Given the description of an element on the screen output the (x, y) to click on. 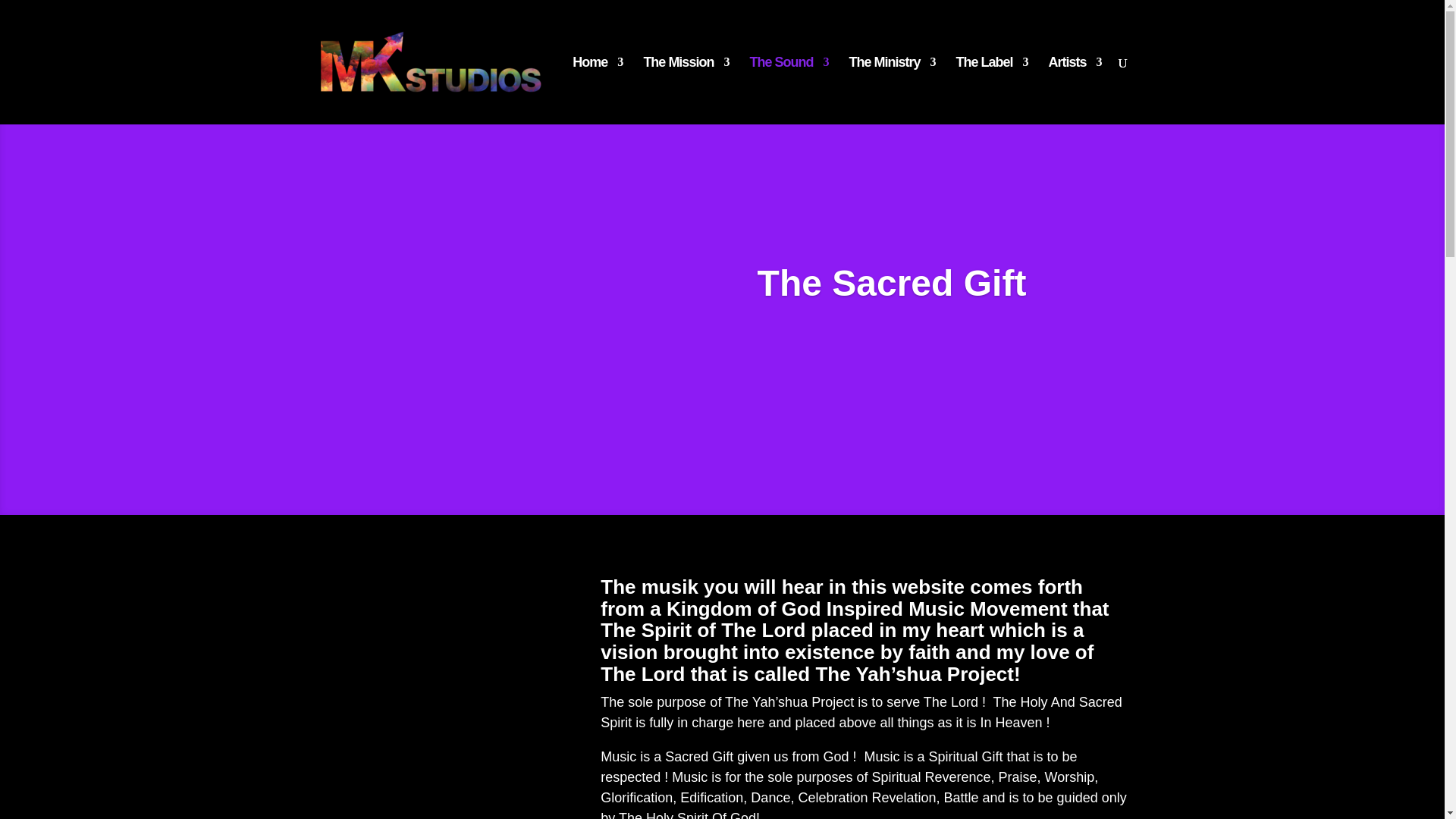
The Label (991, 90)
The Ministry (891, 90)
The Sound (788, 90)
The Mission (686, 90)
